Given the description of an element on the screen output the (x, y) to click on. 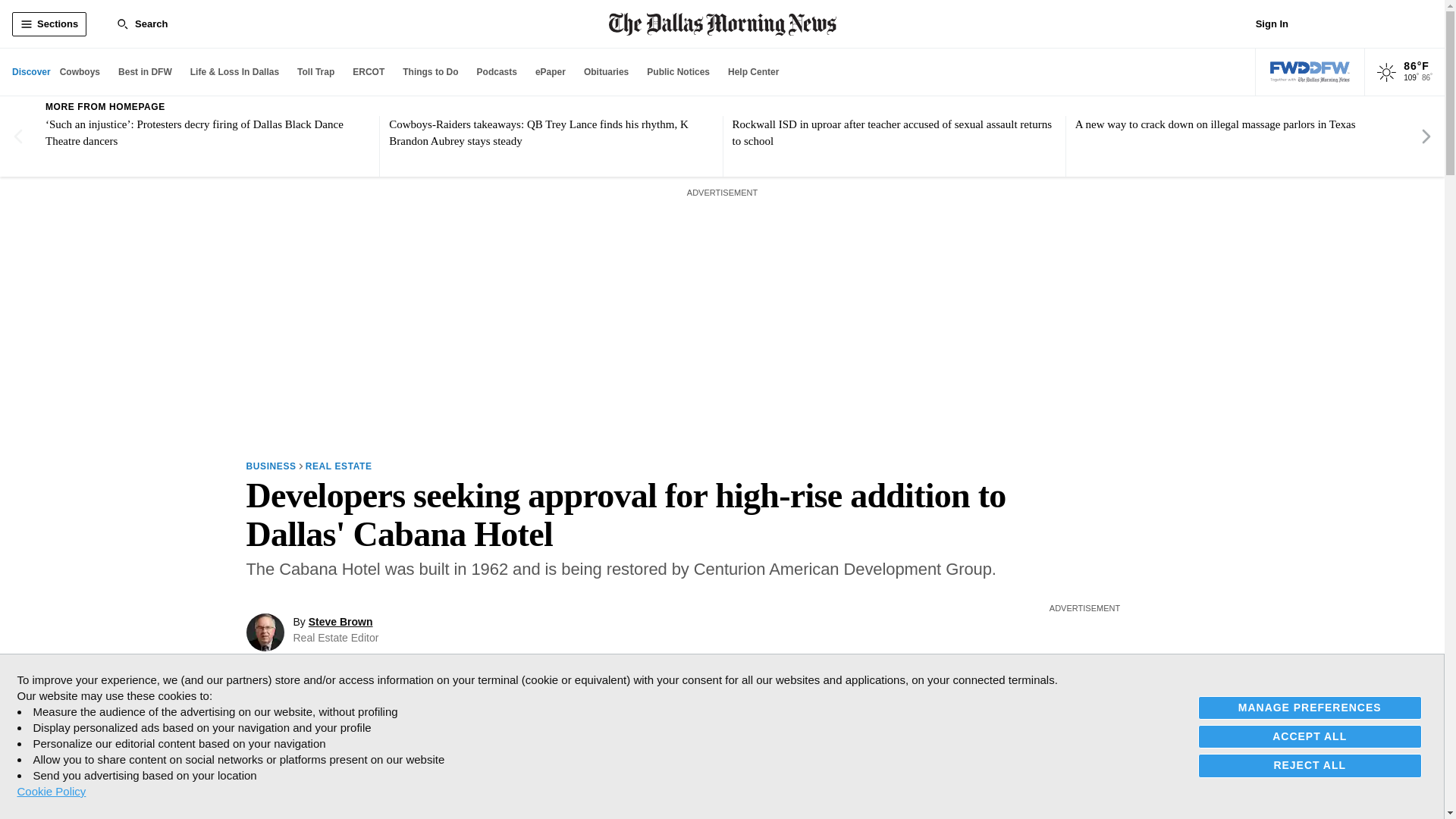
REJECT ALL (1310, 765)
Cookie Policy (50, 790)
FWD DFW, Together with The Dallas Morning News (1310, 72)
MANAGE PREFERENCES (1310, 707)
Clear sky (1386, 72)
ACCEPT ALL (1310, 736)
